Given the description of an element on the screen output the (x, y) to click on. 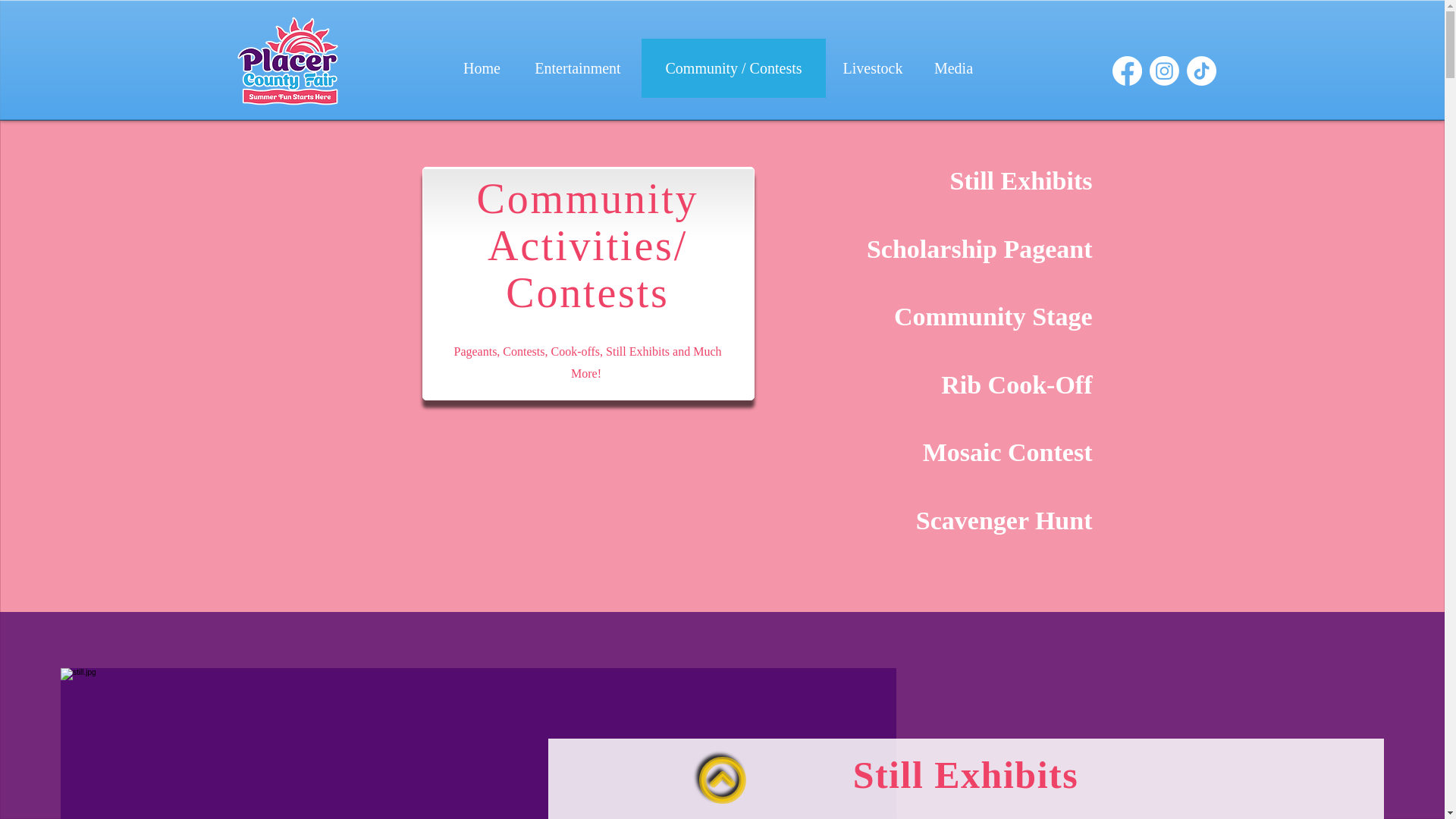
Home (480, 67)
Scholarship Pageant (970, 249)
Entertainment (577, 67)
Media (952, 67)
Rib Cook-Off (970, 385)
Community Stage (970, 316)
Livestock (871, 67)
Mosaic Contest (970, 452)
Scavenger Hunt (970, 520)
Still Exhibits (970, 181)
